Given the description of an element on the screen output the (x, y) to click on. 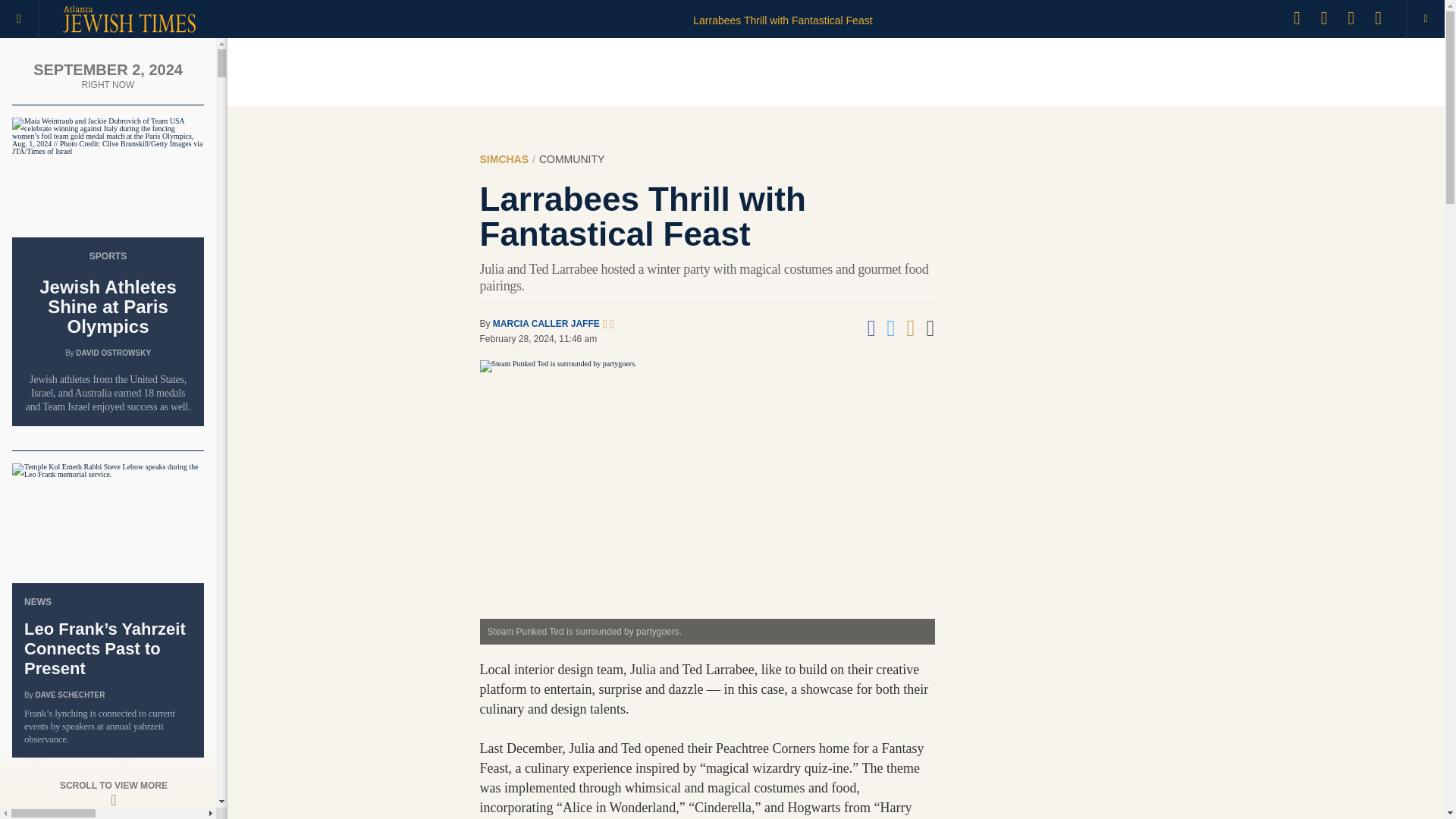
Steam Punked Ted is surrounded by partygoers. (706, 502)
Marcia Caller Jaffe (546, 323)
David Ostrowsky (113, 352)
Dave Schechter (69, 695)
